Given the description of an element on the screen output the (x, y) to click on. 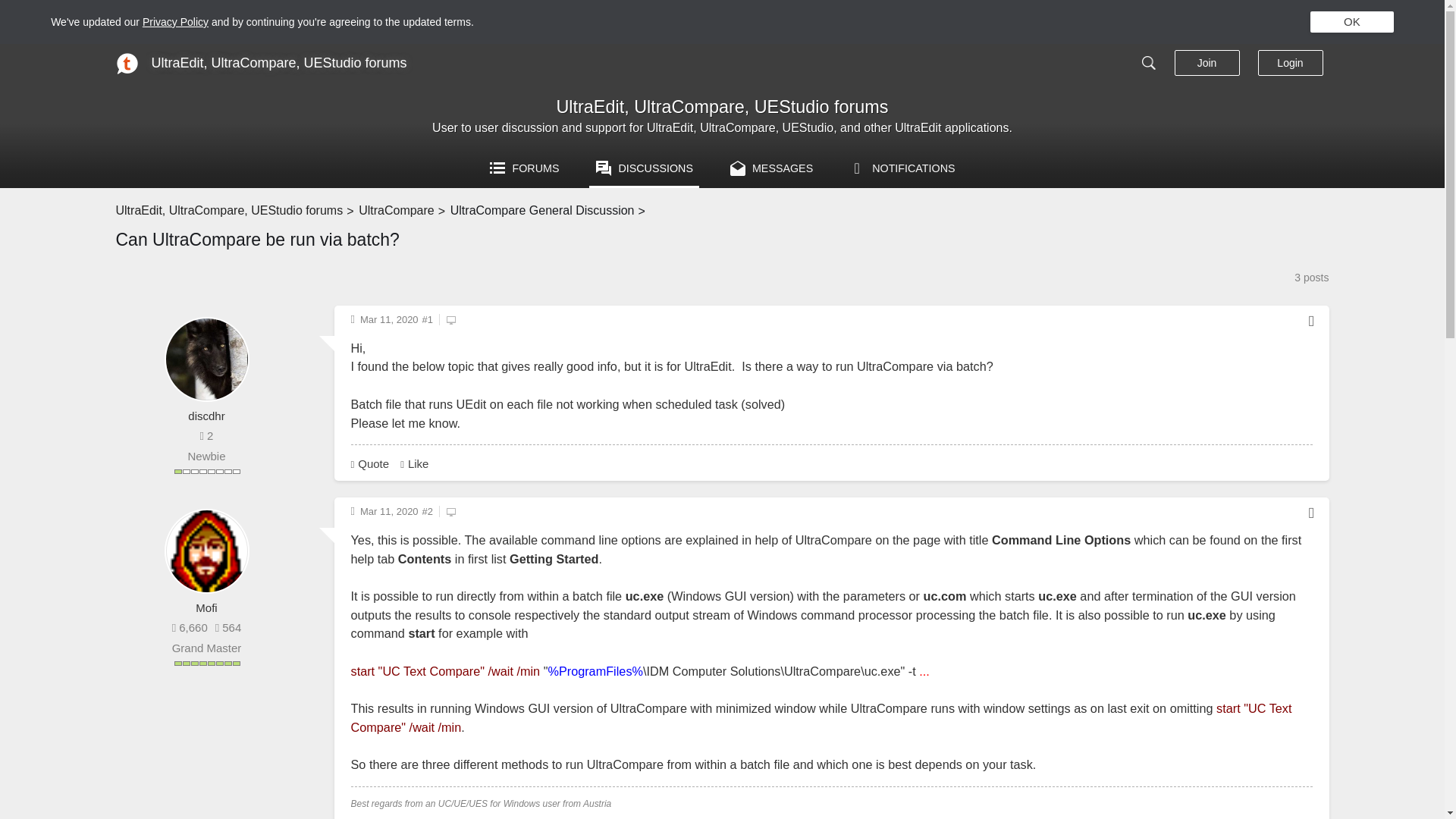
UltraEdit, UltraCompare, UEStudio forums (722, 107)
UltraCompare General Discussion (541, 210)
MESSAGES (767, 167)
UltraCompare (395, 210)
Mofi (205, 608)
Login (1289, 62)
UltraCompare General Discussion (541, 210)
UltraEdit, UltraCompare, UEStudio forums (228, 210)
FORUMS (521, 167)
UltraEdit, UltraCompare, UEStudio forums (278, 62)
